Given the description of an element on the screen output the (x, y) to click on. 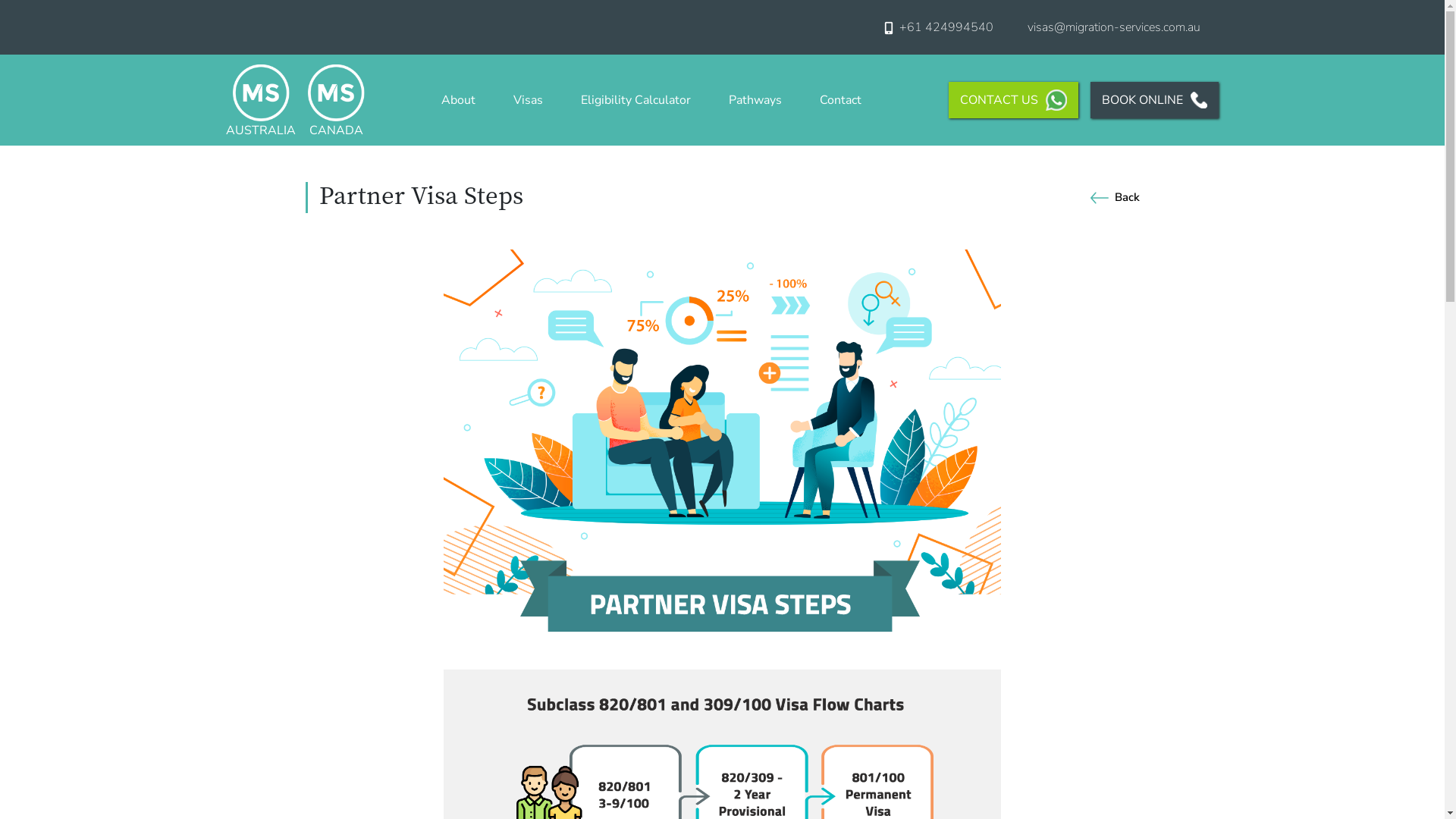
BOOK ONLINE Element type: text (1148, 99)
CANADA Element type: text (335, 99)
Contact Element type: text (840, 99)
Back Element type: text (1111, 197)
Visas Element type: text (527, 99)
Pathways Element type: text (754, 99)
AUSTRALIA Element type: text (260, 99)
About Element type: text (458, 99)
Eligibility Calculator Element type: text (635, 99)
CONTACT US Element type: text (1013, 99)
BOOK ONLINE Element type: text (1154, 99)
